Given the description of an element on the screen output the (x, y) to click on. 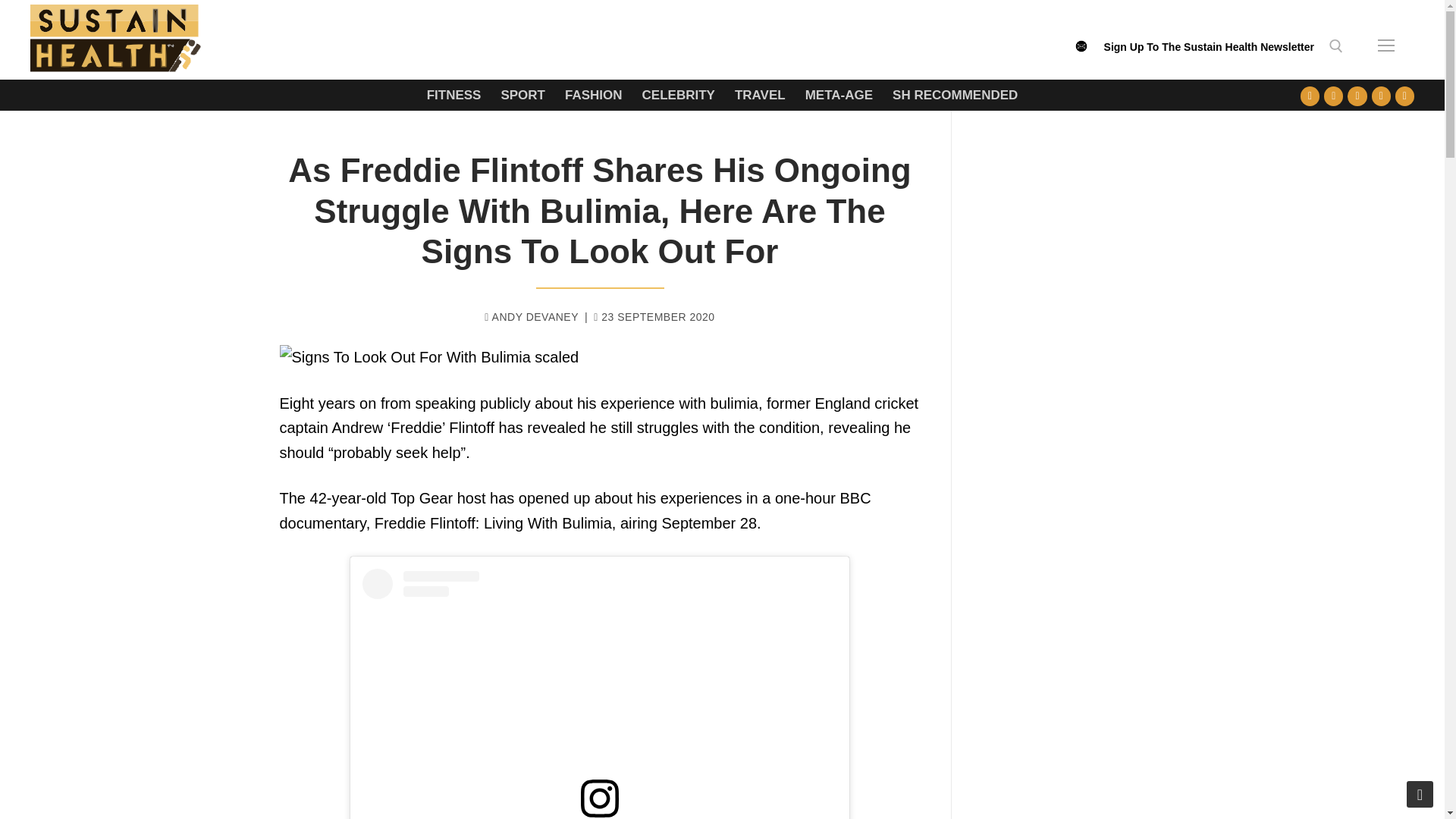
SH RECOMMENDED (954, 94)
Youtube (1357, 95)
TRAVEL (759, 94)
META-AGE (838, 94)
Twitter (1333, 95)
Sign Up To The Sustain Health Newsletter (1208, 53)
SPORT (522, 94)
Pinterest (1404, 95)
CELEBRITY (678, 94)
ANDY DEVANEY (531, 316)
